Given the description of an element on the screen output the (x, y) to click on. 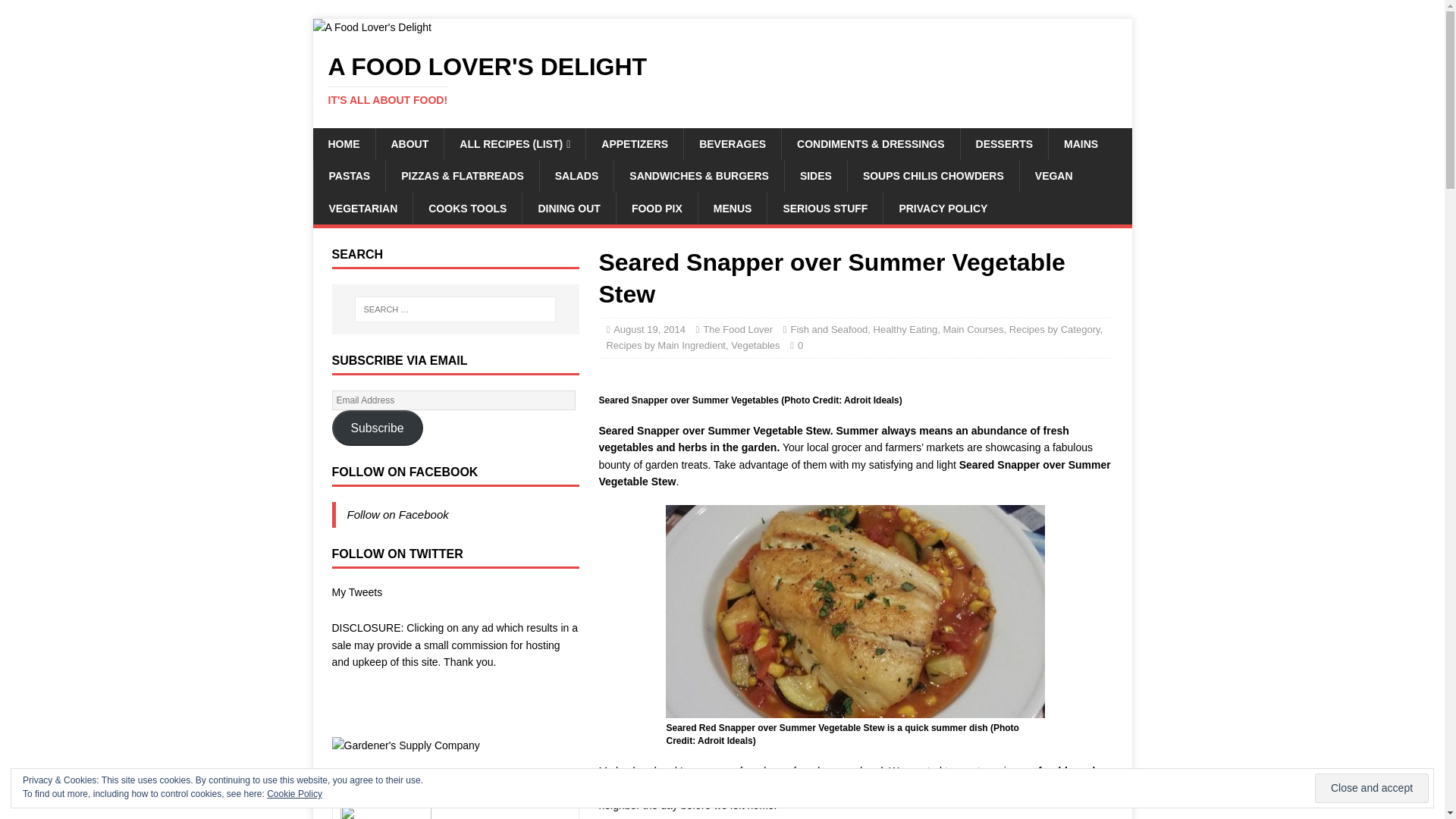
DESSERTS (721, 80)
A Food Lover's Delight (1003, 143)
ABOUT (721, 80)
BEVERAGES (409, 143)
A Food Lover's Delight (731, 143)
PASTAS (371, 27)
MAINS (349, 175)
HOME (1080, 143)
Close and accept (343, 143)
